Given the description of an element on the screen output the (x, y) to click on. 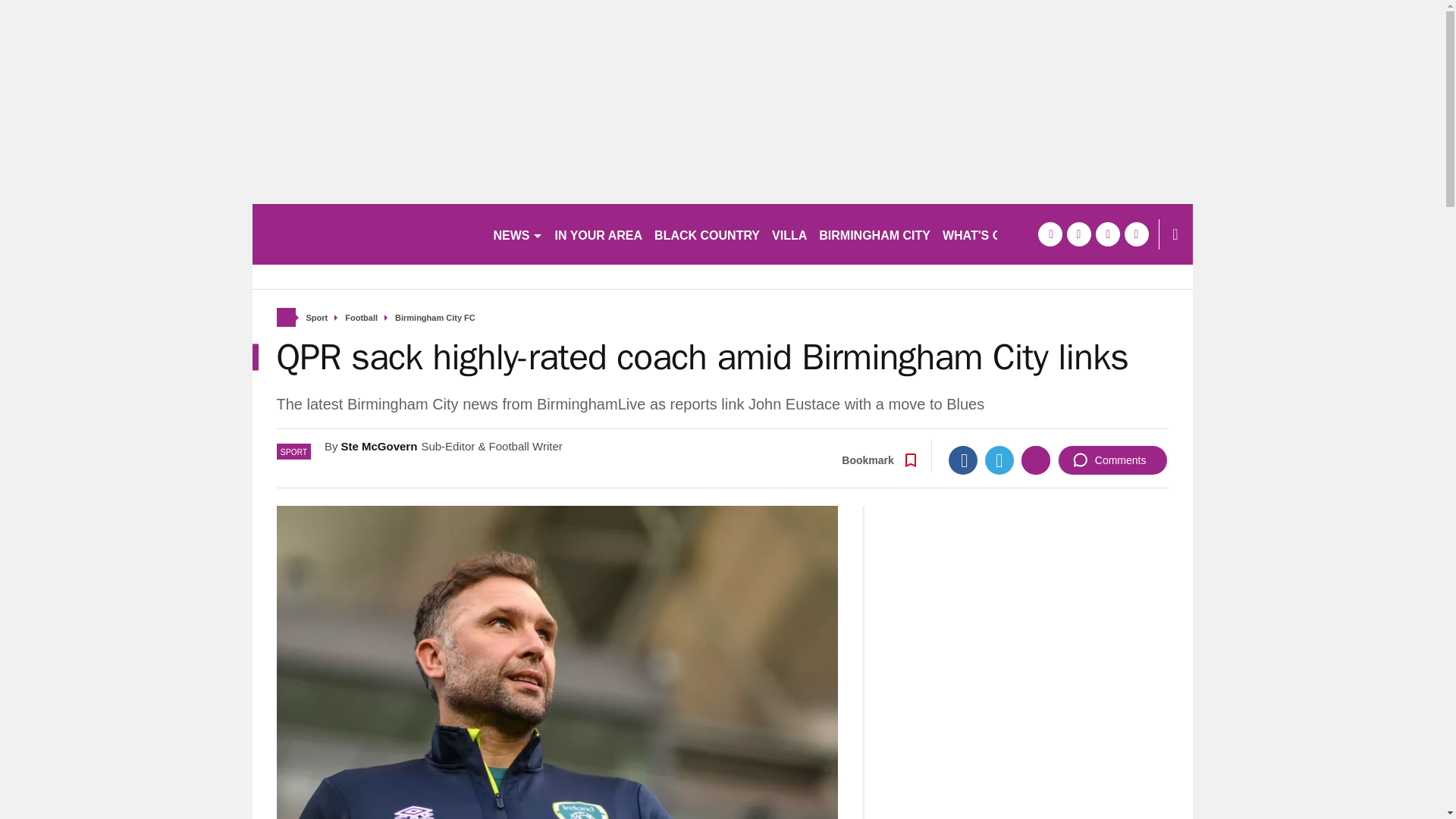
IN YOUR AREA (598, 233)
BLACK COUNTRY (706, 233)
Comments (1112, 460)
instagram (1136, 233)
birminghammail (365, 233)
BIRMINGHAM CITY (874, 233)
WHAT'S ON (982, 233)
Twitter (999, 460)
NEWS (517, 233)
facebook (1048, 233)
VILLA (788, 233)
twitter (1077, 233)
Facebook (962, 460)
tiktok (1106, 233)
